Given the description of an element on the screen output the (x, y) to click on. 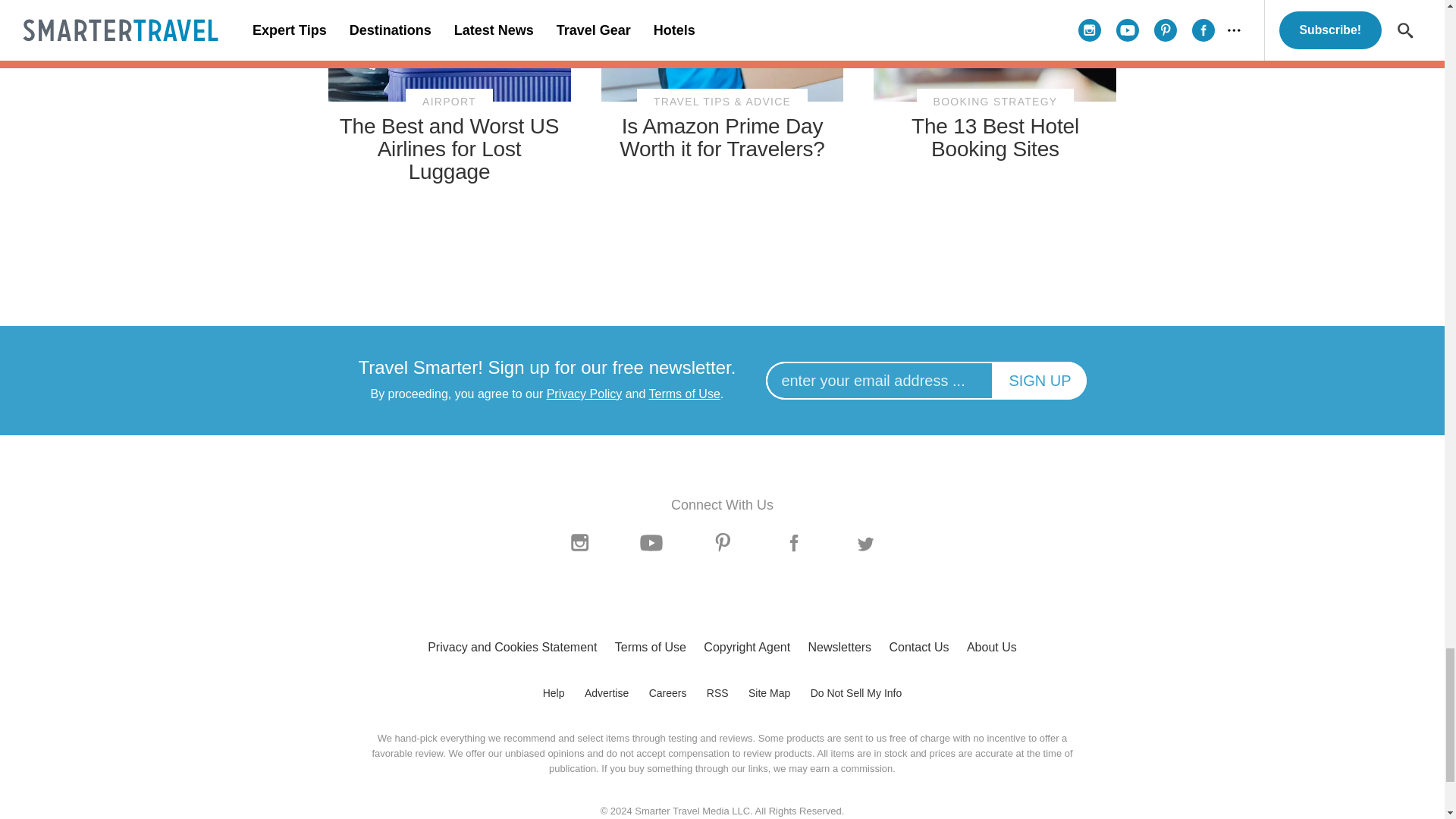
View all posts in Booking Strategy (995, 101)
View all posts in Airport (449, 101)
